Given the description of an element on the screen output the (x, y) to click on. 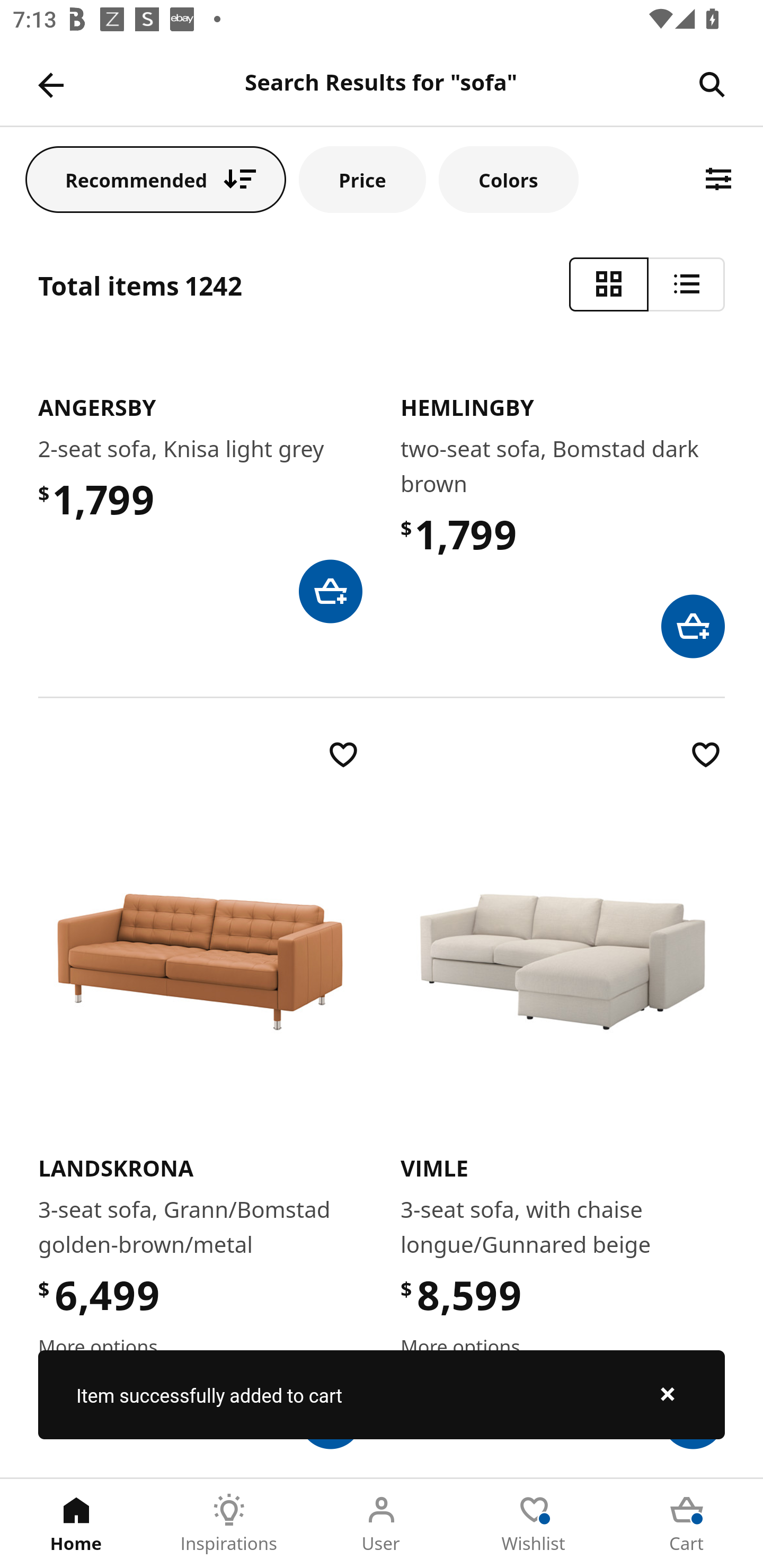
Recommended (155, 179)
Price (362, 179)
Colors (508, 179)
Item successfully added to cart (381, 1394)
Home
Tab 1 of 5 (76, 1522)
Inspirations
Tab 2 of 5 (228, 1522)
User
Tab 3 of 5 (381, 1522)
Wishlist
Tab 4 of 5 (533, 1522)
Cart
Tab 5 of 5 (686, 1522)
